Given the description of an element on the screen output the (x, y) to click on. 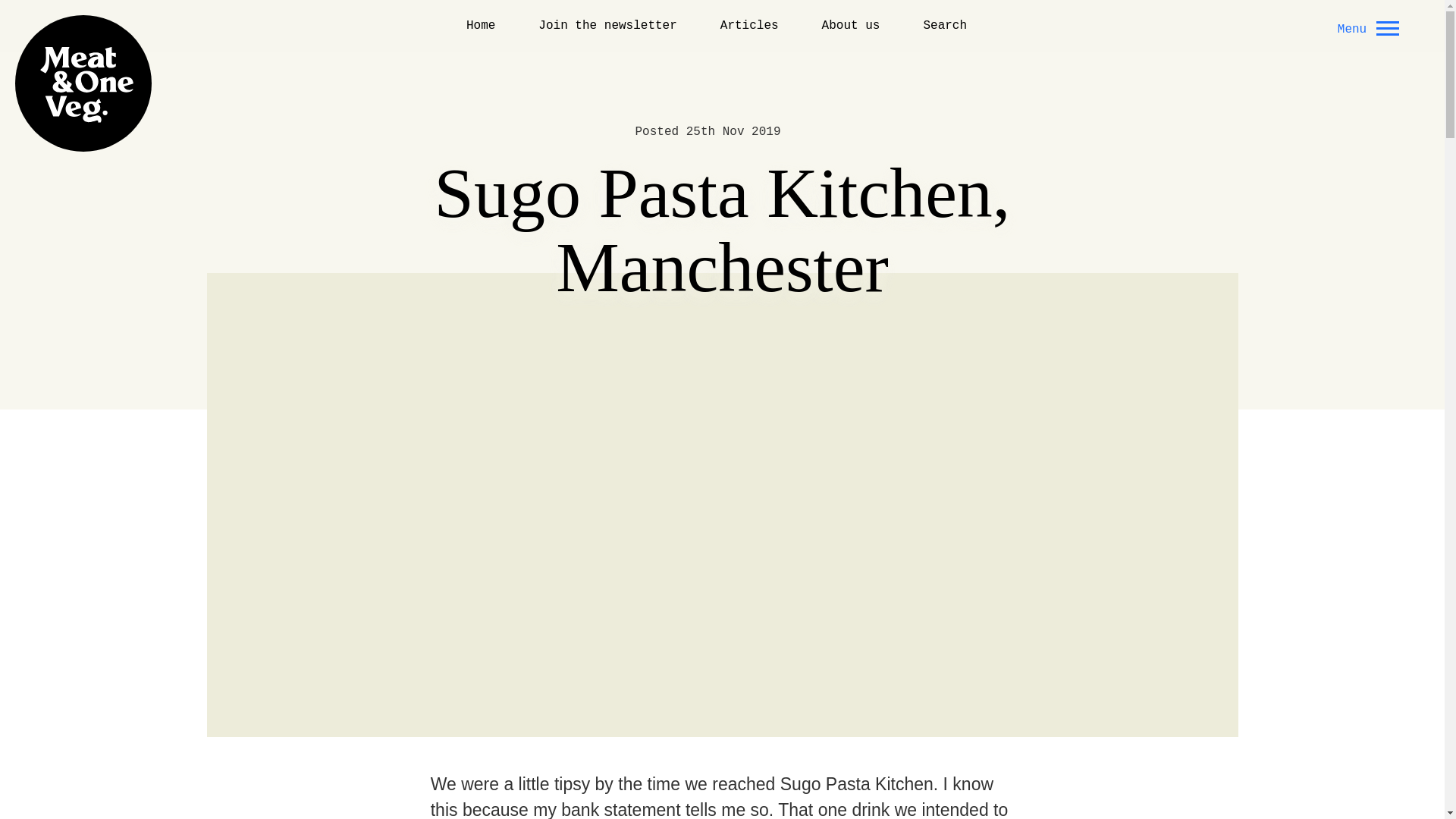
About us (851, 25)
Search (944, 25)
Go to home page (82, 83)
Menu (1364, 27)
Articles (749, 25)
Skip to content (48, 11)
Join the newsletter (607, 25)
